Given the description of an element on the screen output the (x, y) to click on. 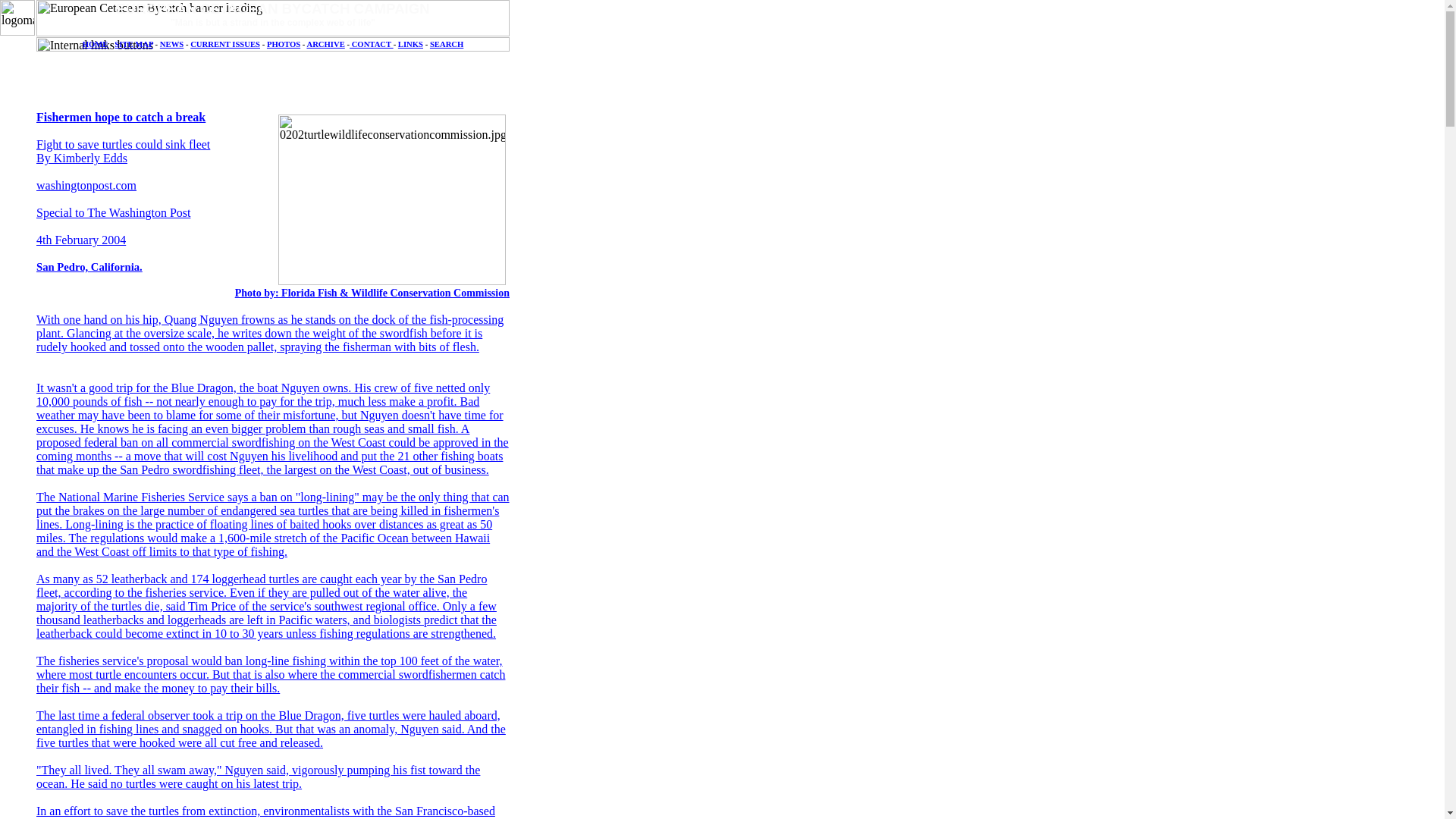
PHOTOS (282, 44)
SITE MAP (133, 44)
LINKS (410, 44)
ARCHIVE (324, 44)
HOME (94, 44)
ecbcsubsitehyperlinks (272, 43)
NEWS (171, 44)
CONTACT (371, 44)
CURRENT ISSUES (225, 44)
SEARCH (446, 44)
bannermastfinal (272, 18)
